Given the description of an element on the screen output the (x, y) to click on. 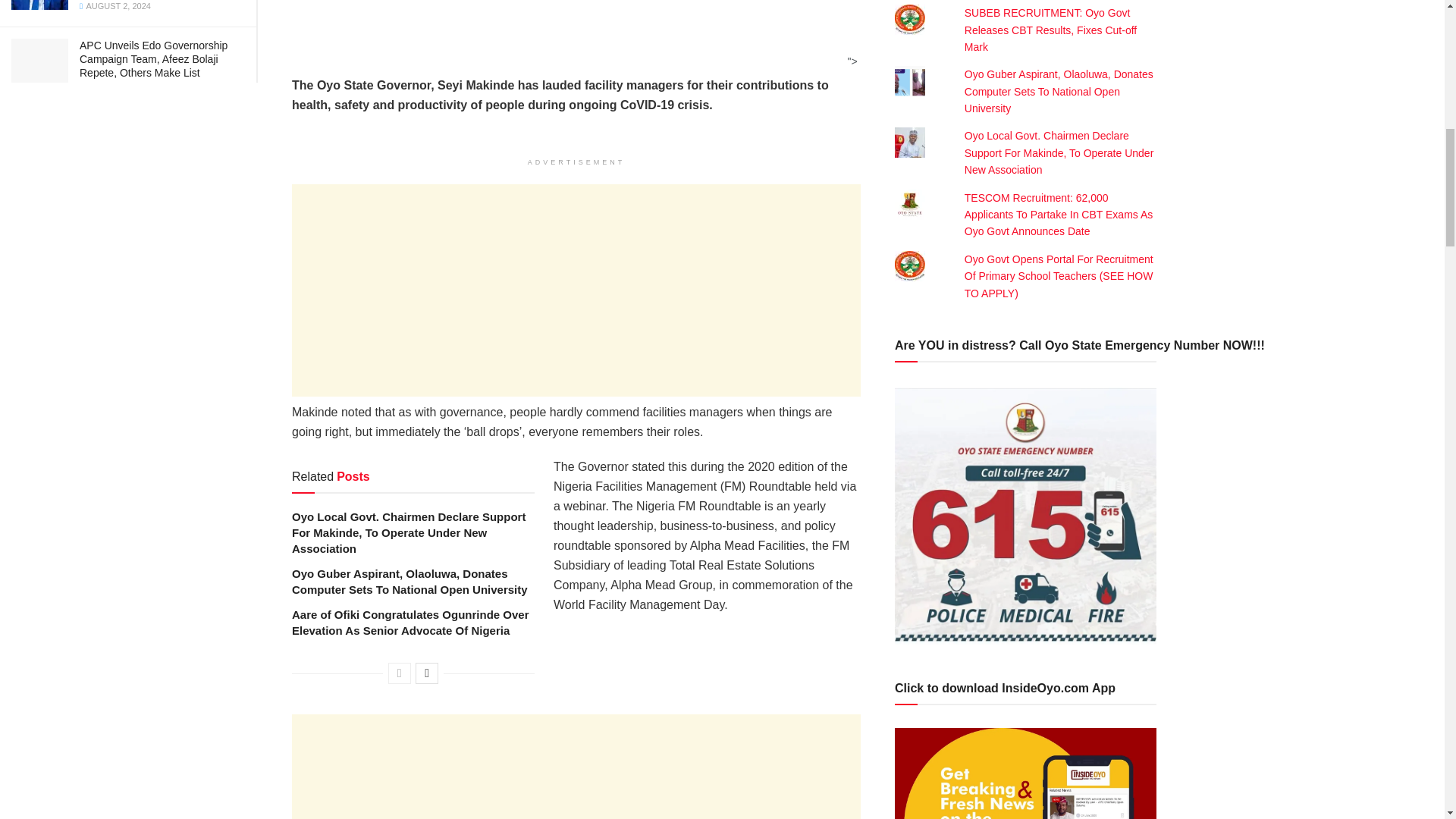
Advertisement (576, 290)
Advertisement (576, 766)
Next (426, 672)
Advertisement (571, 32)
Previous (399, 672)
